Given the description of an element on the screen output the (x, y) to click on. 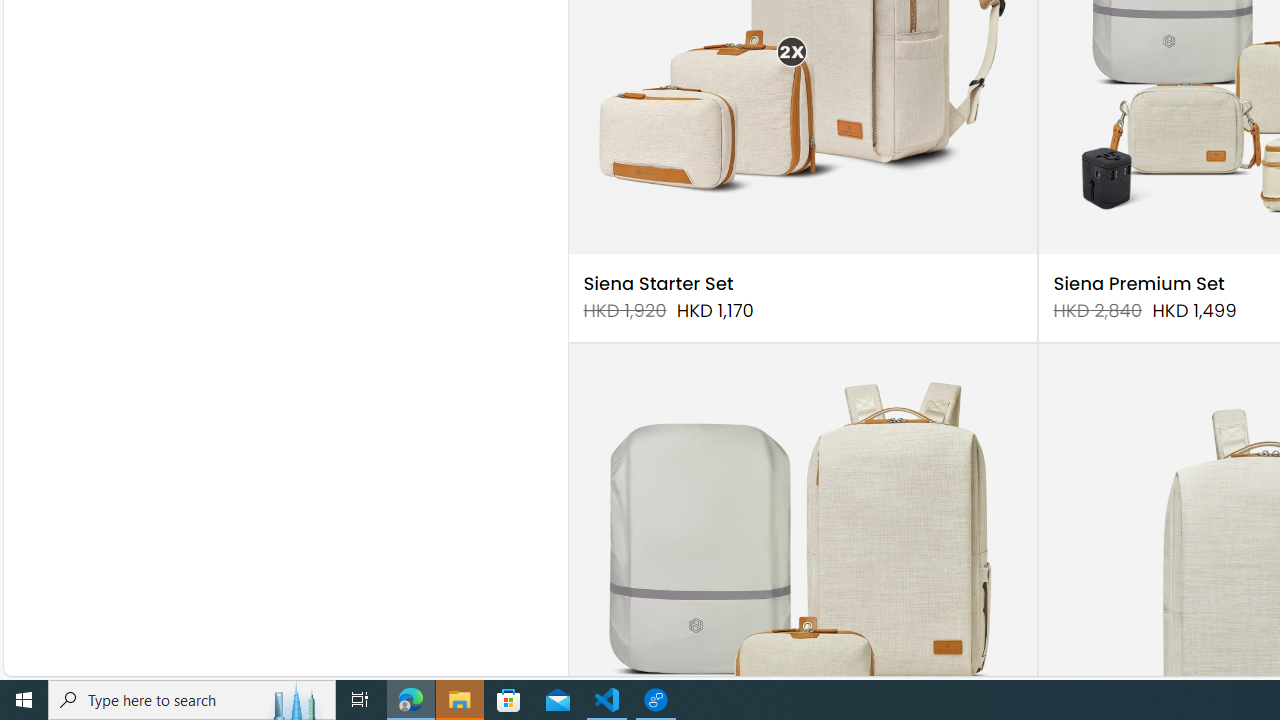
Siena Premium Set (1138, 283)
Siena Starter Set (657, 283)
